Given the description of an element on the screen output the (x, y) to click on. 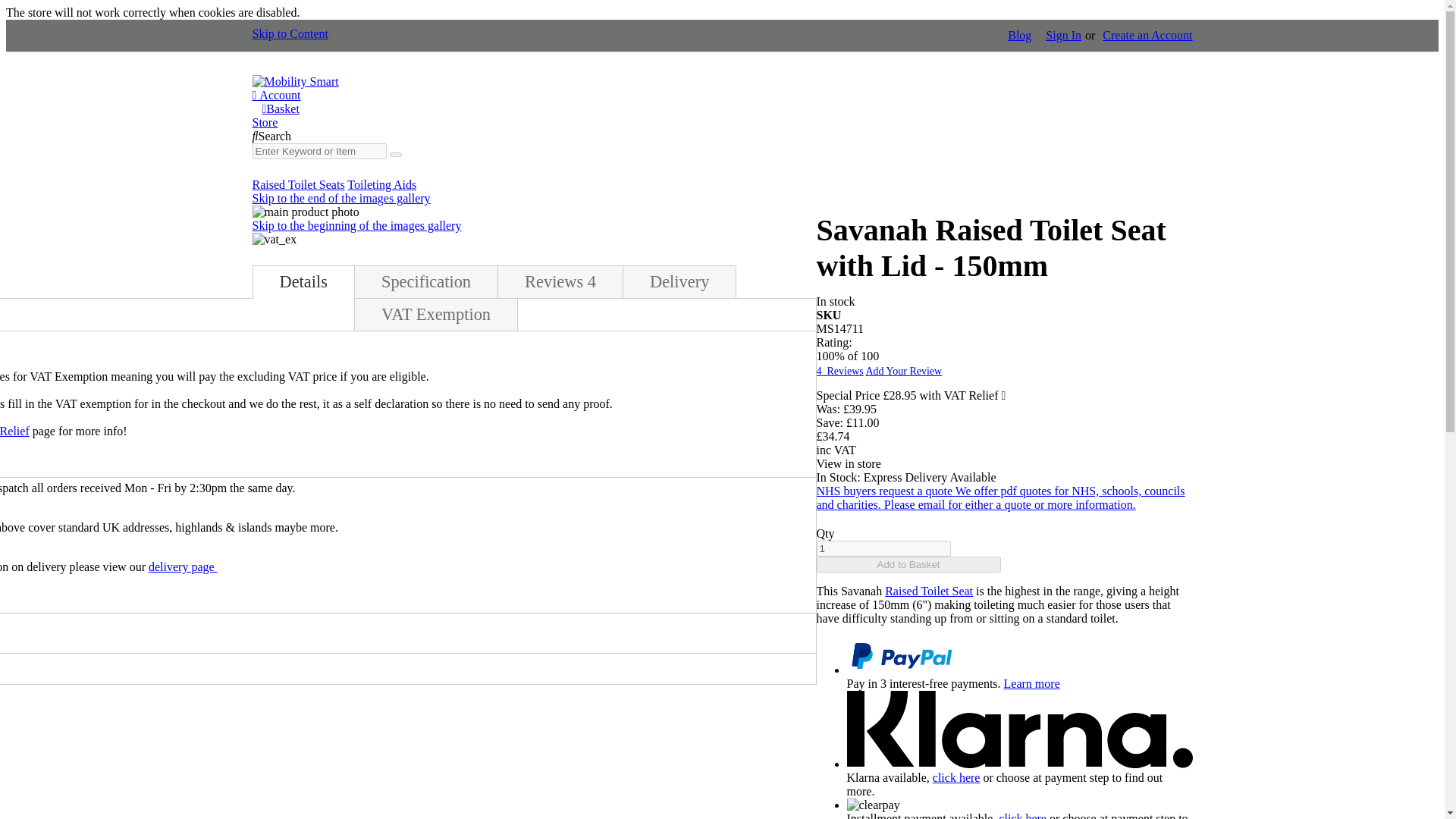
Skip to Content (289, 33)
Store (264, 122)
Sign In (1063, 35)
Basket (280, 108)
Add to Basket (907, 564)
Availability (1003, 301)
Account (275, 94)
Blog (1018, 35)
1 (882, 548)
Mobility Smart (294, 81)
Raised Toilet Seats (928, 590)
4 (82, 431)
Create an Account (1147, 35)
Mobility Smart (294, 81)
5 (133, 431)
